Given the description of an element on the screen output the (x, y) to click on. 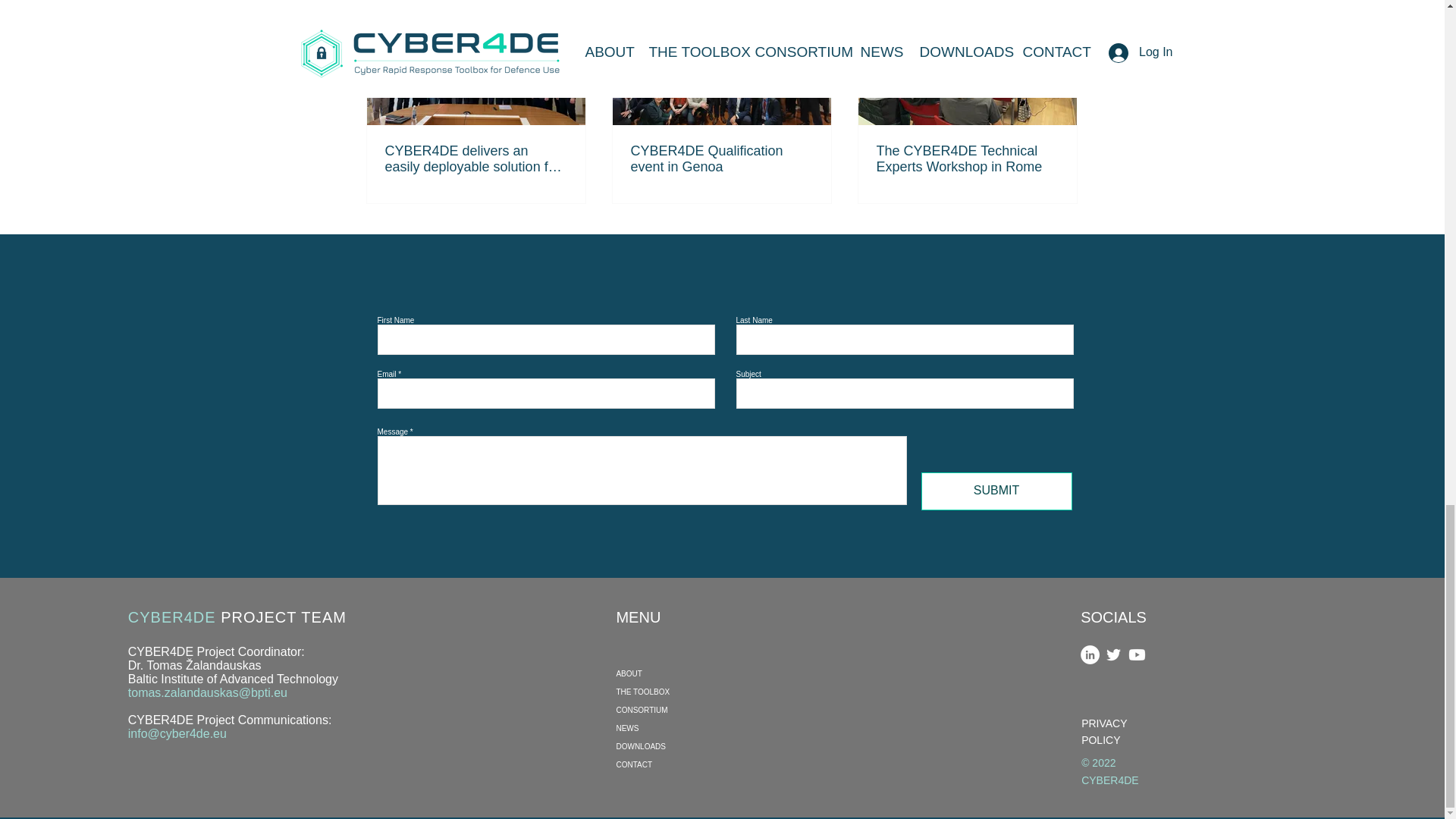
CYBER4DE Qualification event in Genoa (721, 159)
DOWNLOADS (686, 746)
CYBER4DE PROJECT TEAM (237, 617)
THE TOOLBOX (686, 692)
PRIVACY POLICY (1103, 731)
ABOUT (686, 674)
CONSORTIUM (686, 710)
SUBMIT (995, 491)
CONTACT (686, 764)
The CYBER4DE Technical Experts Workshop in Rome (967, 159)
NEWS (686, 728)
